Given the description of an element on the screen output the (x, y) to click on. 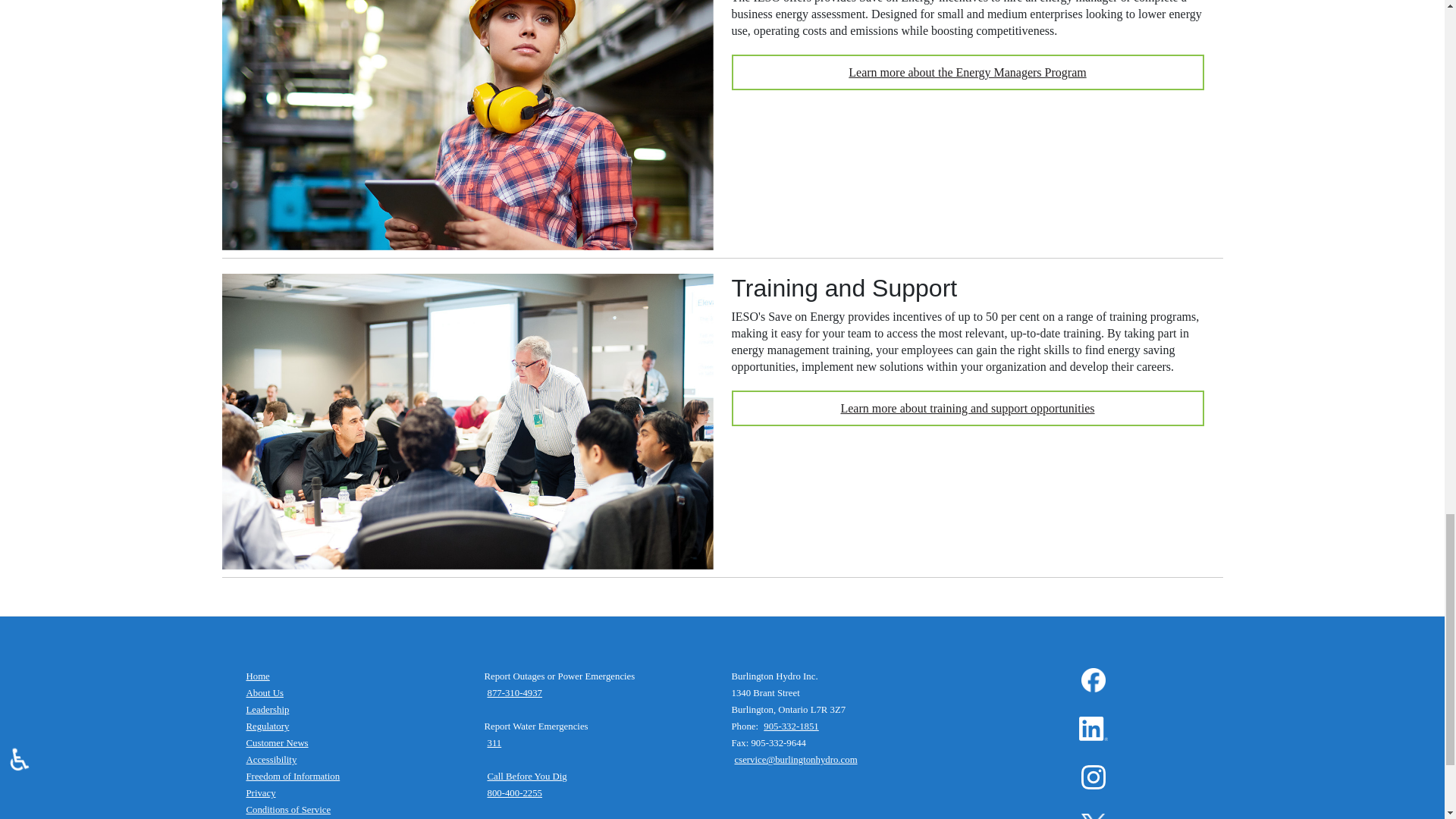
Facebook (1093, 680)
LinkedIN (1092, 728)
X (1093, 816)
instagram (1093, 776)
